Given the description of an element on the screen output the (x, y) to click on. 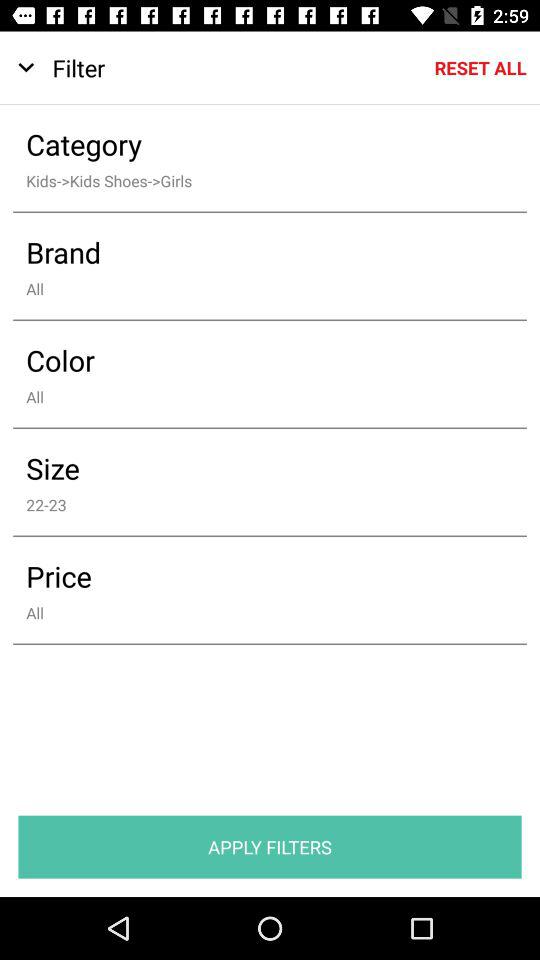
open brand (256, 251)
